Given the description of an element on the screen output the (x, y) to click on. 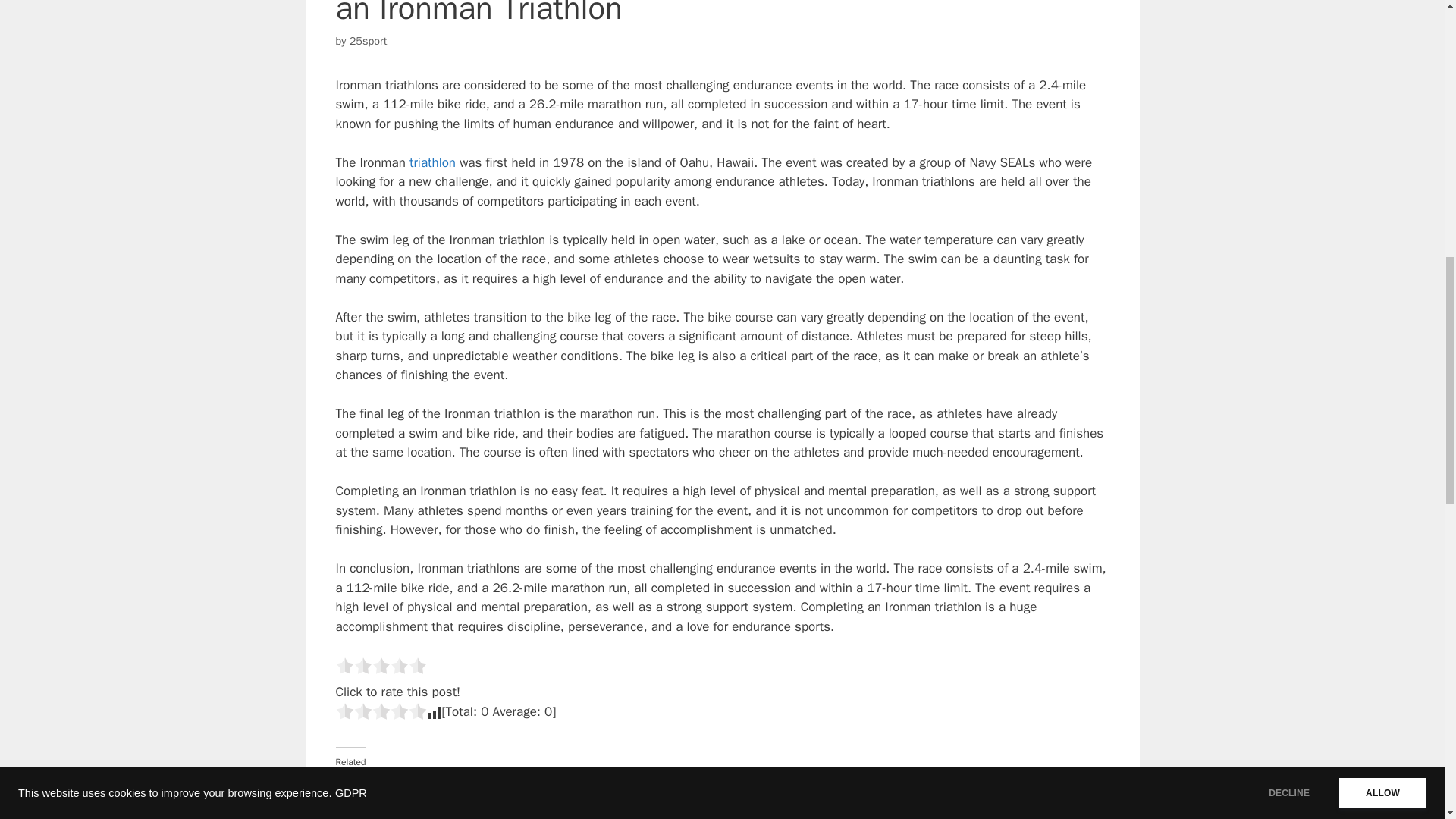
triathlon (432, 162)
View all posts by 25sport (368, 40)
25sport (368, 40)
You Can Improve Your Ironman Time By Doing This (456, 797)
